Given the description of an element on the screen output the (x, y) to click on. 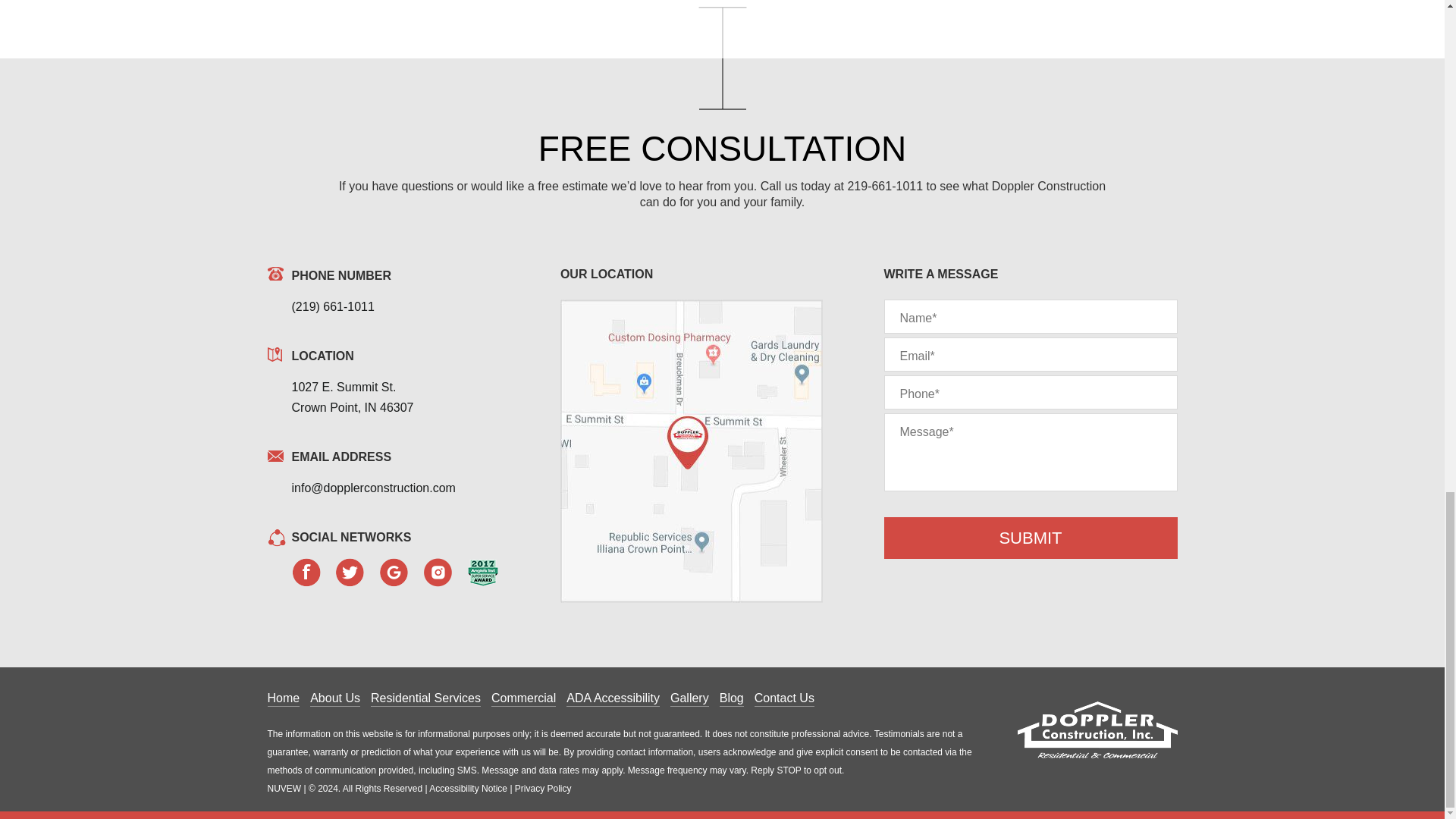
Submit (1030, 537)
